Given the description of an element on the screen output the (x, y) to click on. 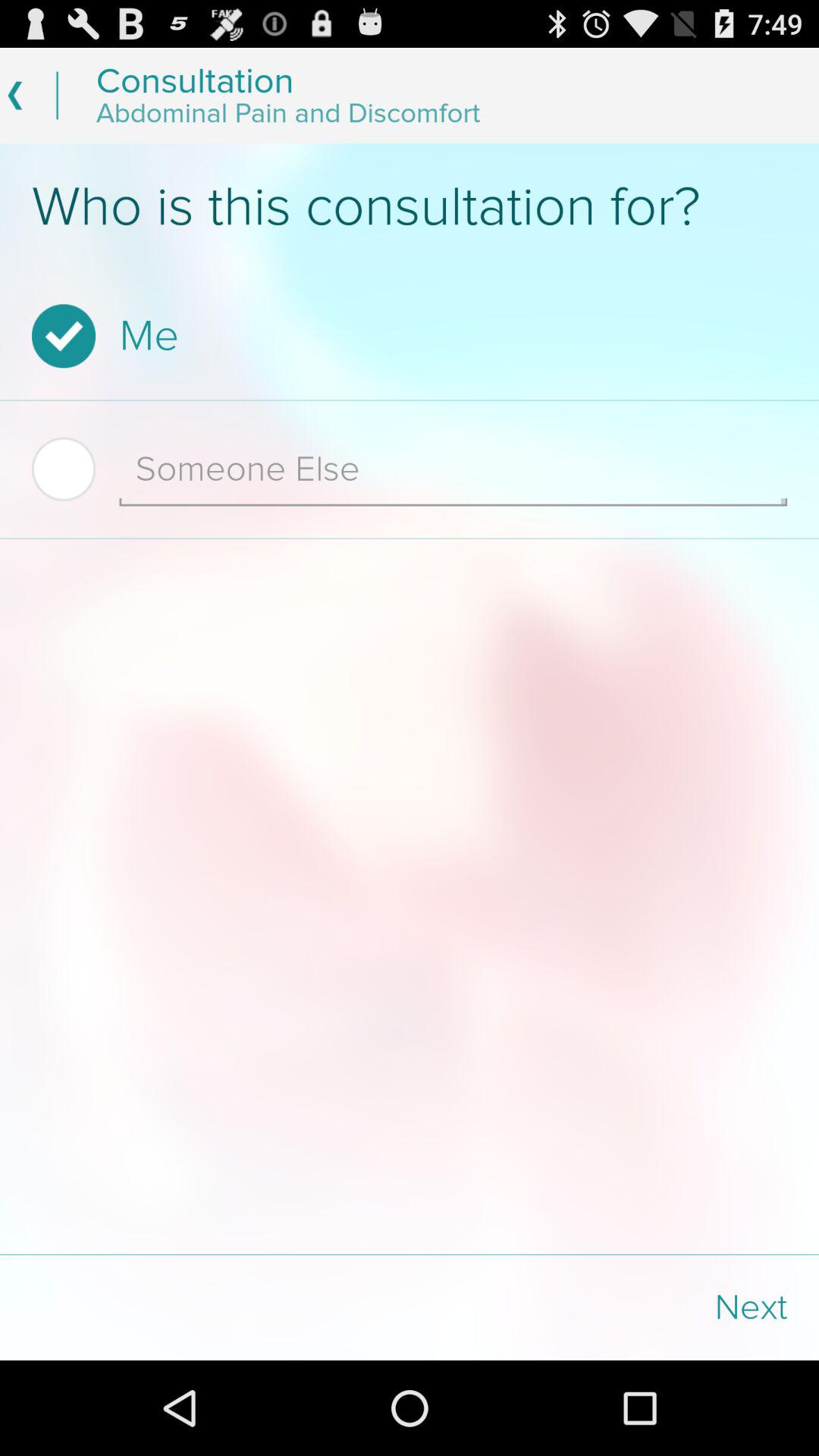
select app at the bottom right corner (614, 1307)
